Given the description of an element on the screen output the (x, y) to click on. 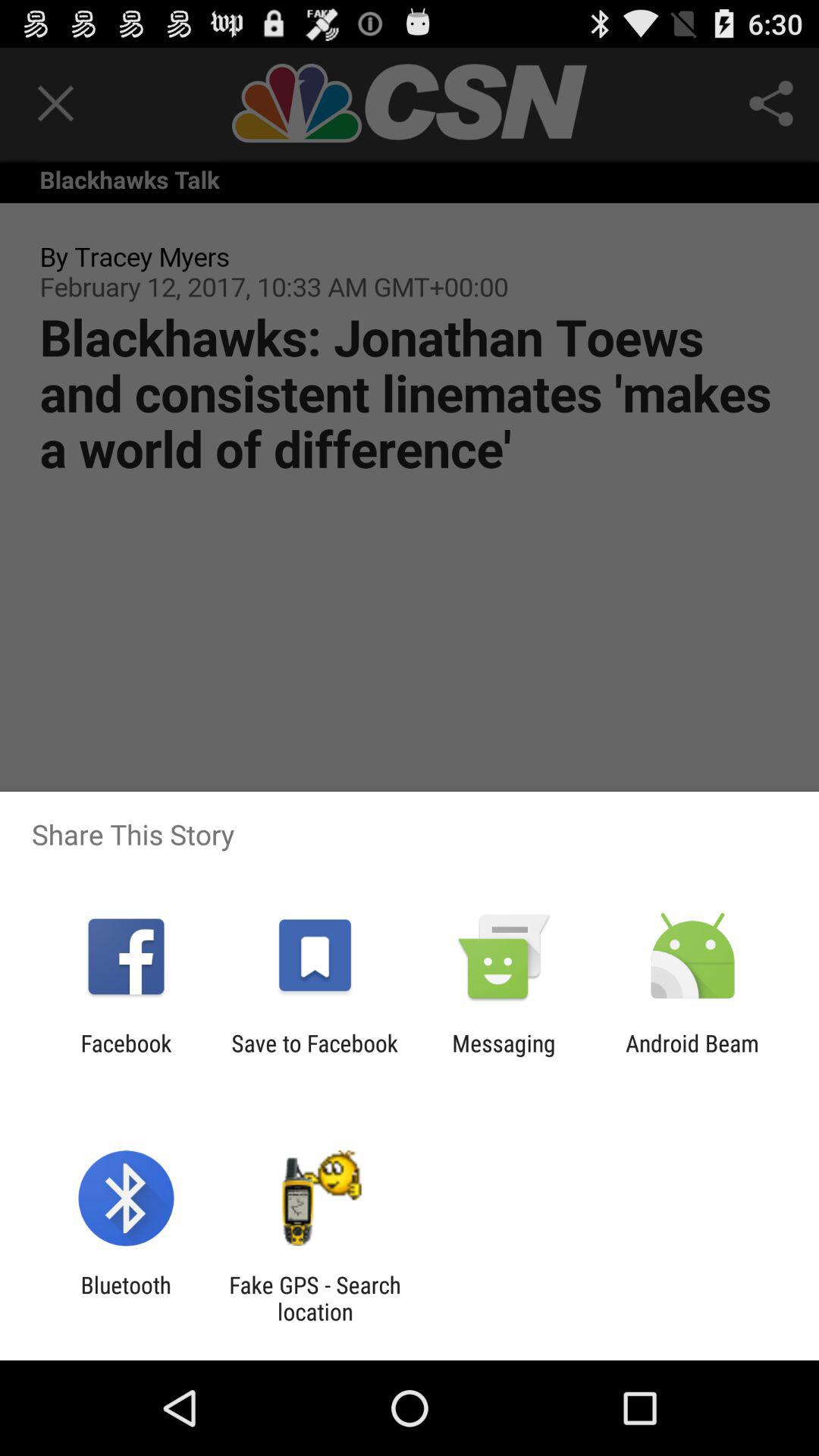
choose save to facebook (314, 1056)
